Given the description of an element on the screen output the (x, y) to click on. 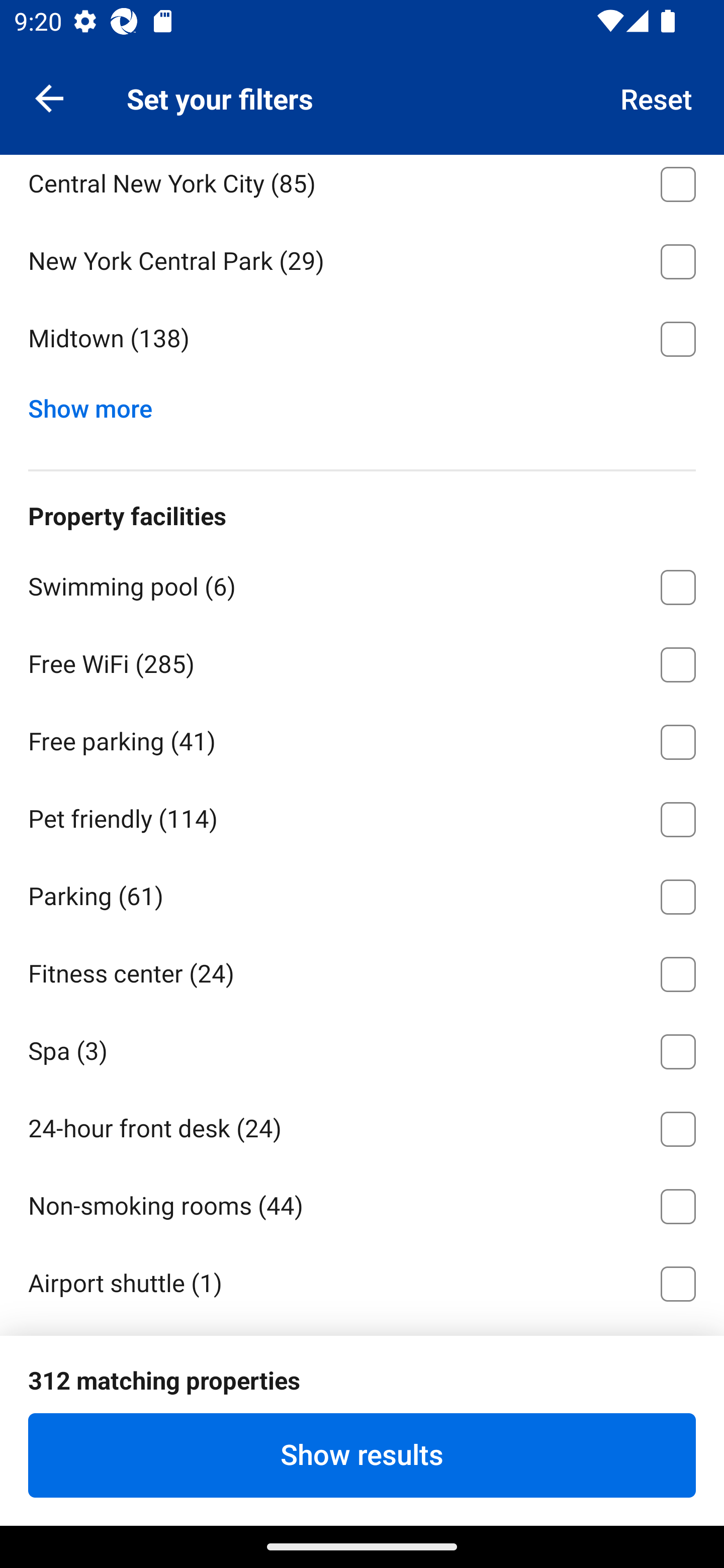
Navigate up (49, 97)
Reset (656, 97)
Manhattan ⁦(310) (361, 103)
Central New York City ⁦(85) (361, 187)
New York Central Park ⁦(29) (361, 257)
Midtown ⁦(138) (361, 338)
Show more (97, 403)
Swimming pool ⁦(6) (361, 583)
Free WiFi ⁦(285) (361, 660)
Free parking ⁦(41) (361, 738)
Pet friendly ⁦(114) (361, 815)
Parking ⁦(61) (361, 893)
Fitness center ⁦(24) (361, 970)
Spa ⁦(3) (361, 1047)
24-hour front desk ⁦(24) (361, 1125)
Non-smoking rooms ⁦(44) (361, 1203)
Airport shuttle ⁦(1) (361, 1279)
Show results (361, 1454)
